Given the description of an element on the screen output the (x, y) to click on. 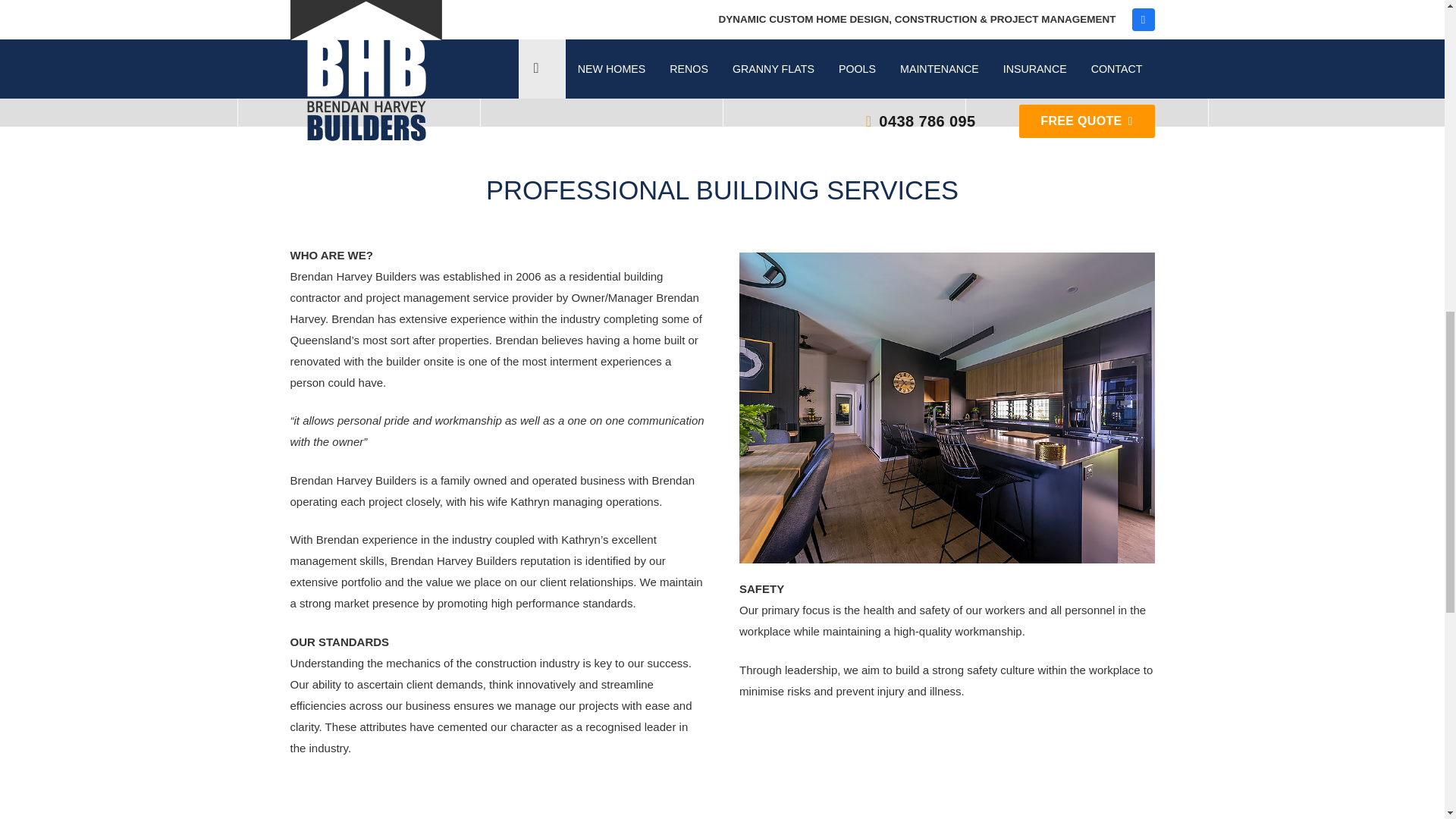
Concrete Pools (844, 63)
Insurance Repairs (1329, 63)
Granny Flats (601, 63)
Back to top (1413, 26)
New Homes (118, 63)
Home Renovations (359, 63)
Home Maintenance (1087, 63)
